Given the description of an element on the screen output the (x, y) to click on. 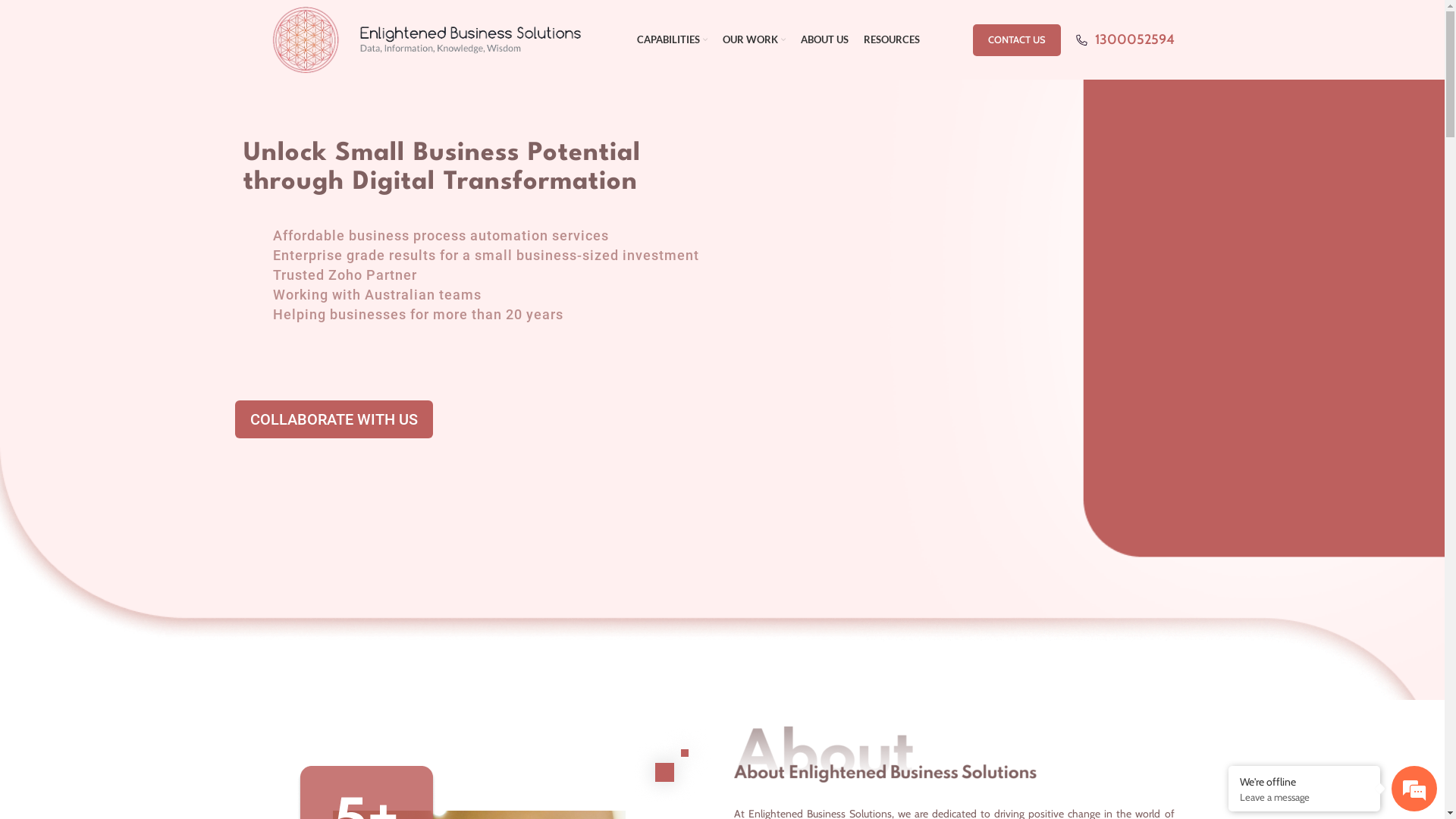
CAPABILITIES Element type: text (672, 39)
ABOUT US Element type: text (824, 39)
RESOURCES Element type: text (891, 39)
OUR WORK Element type: text (753, 39)
CONTACT US Element type: text (1016, 40)
